Given the description of an element on the screen output the (x, y) to click on. 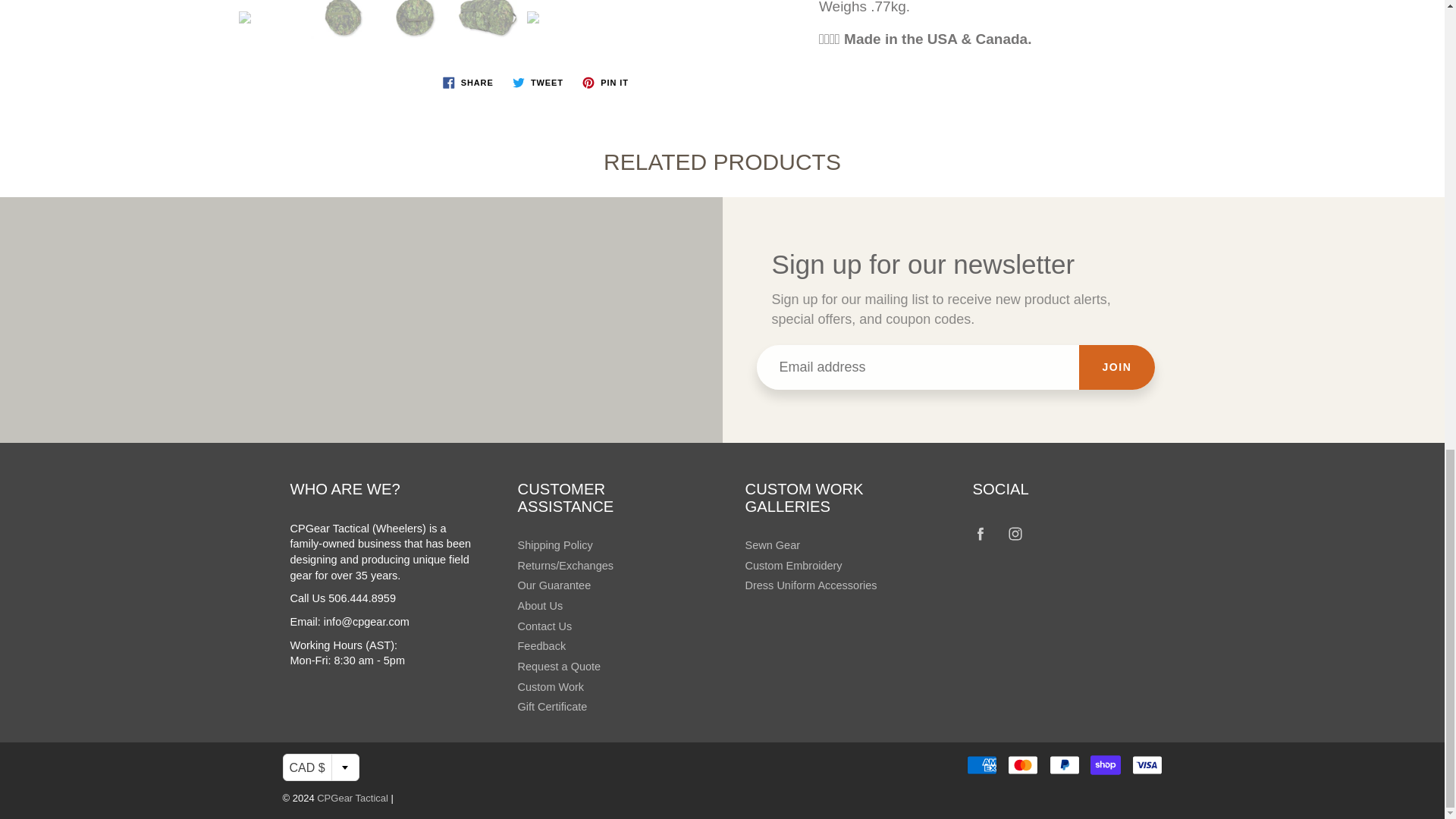
Shop Pay (1105, 764)
PayPal (1064, 764)
Facebook (981, 533)
American Express (981, 764)
Mastercard (1022, 764)
Visa (1146, 764)
